Given the description of an element on the screen output the (x, y) to click on. 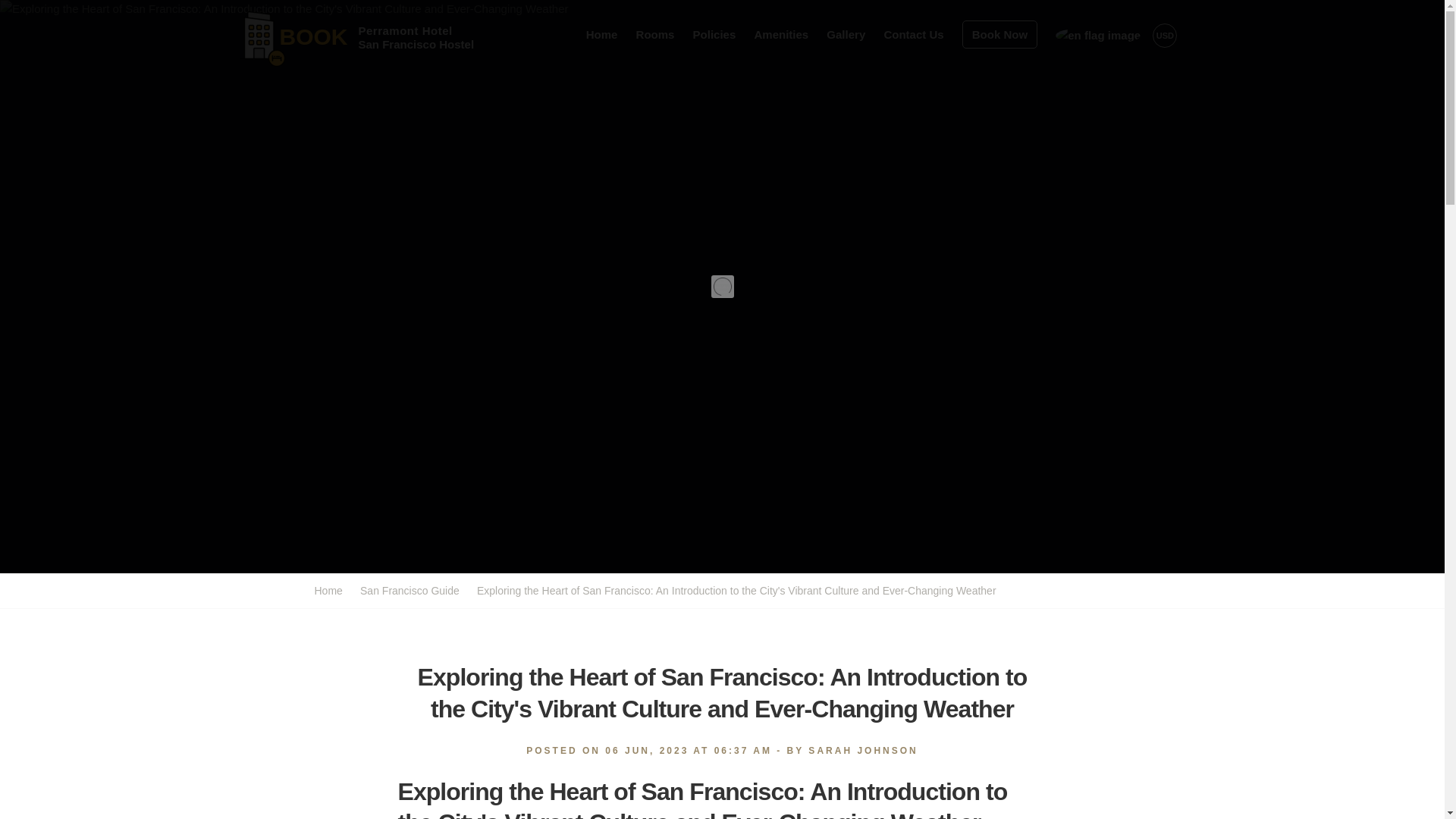
Book Now (999, 33)
Policies (714, 33)
Home (330, 590)
USD (1164, 35)
Home (601, 33)
San Francisco Guide (409, 590)
Amenities (781, 33)
Contact Us (913, 33)
Rooms (321, 34)
Gallery (655, 33)
